Given the description of an element on the screen output the (x, y) to click on. 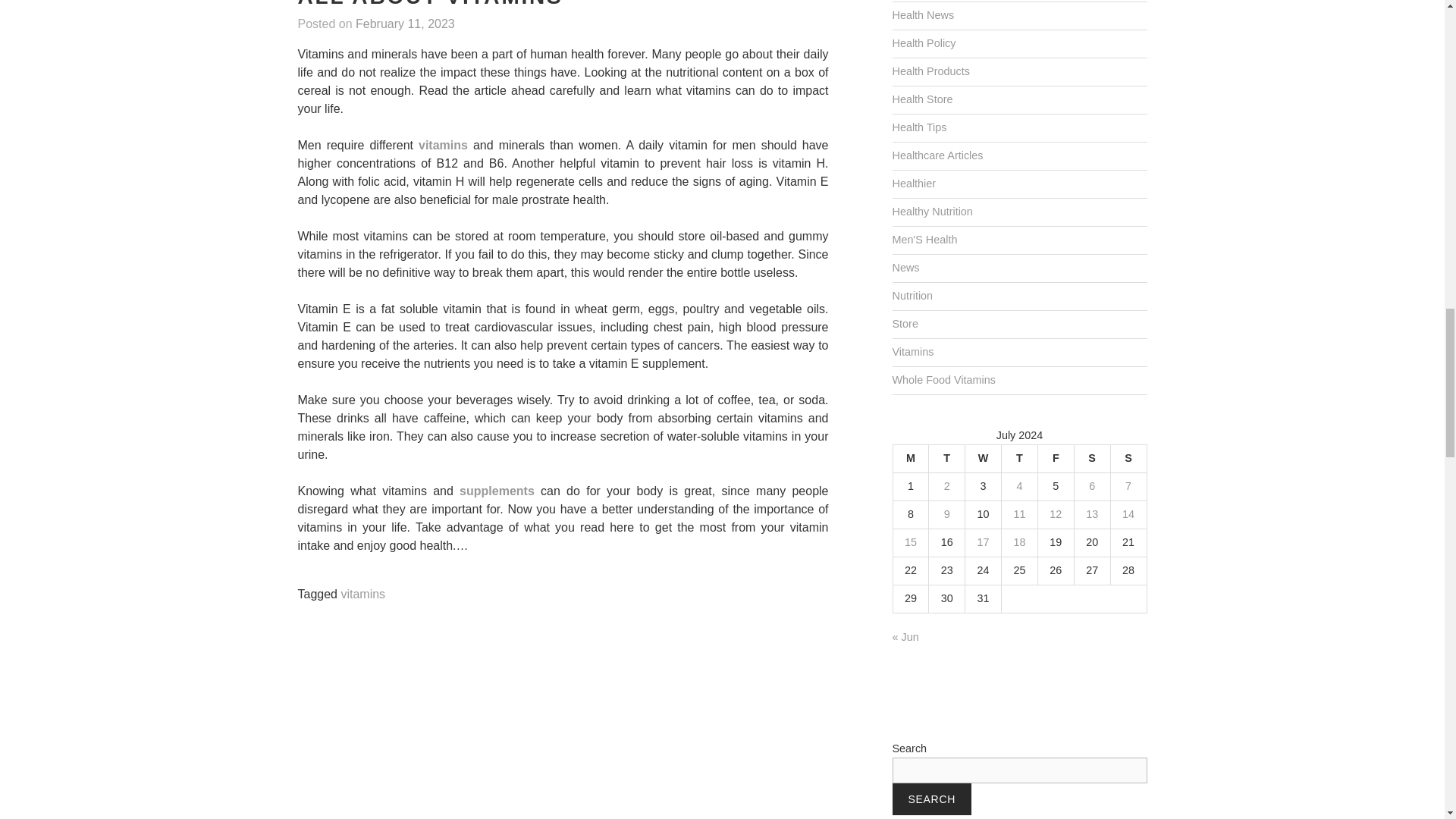
February 11, 2023 (404, 24)
Thursday (1019, 458)
SUCCESS COMES FROM LEARNING: READ ALL ABOUT VITAMINS (562, 4)
Sunday (1128, 458)
Friday (1055, 458)
supplements (497, 491)
Tuesday (946, 458)
Monday (910, 458)
Wednesday (983, 458)
vitamins (362, 594)
vitamins (443, 145)
Saturday (1091, 458)
